Given the description of an element on the screen output the (x, y) to click on. 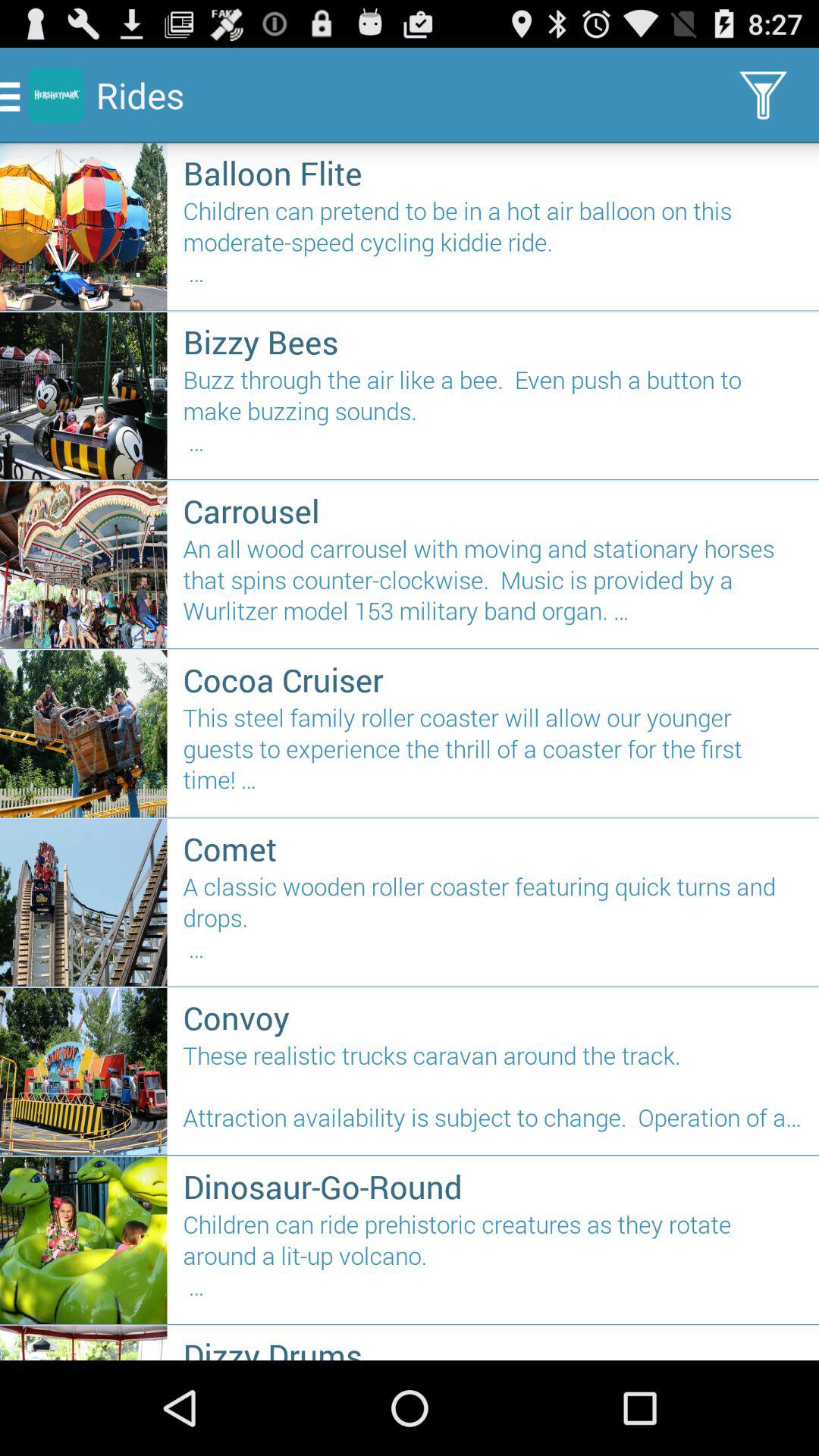
swipe until dizzy drums (493, 1346)
